Given the description of an element on the screen output the (x, y) to click on. 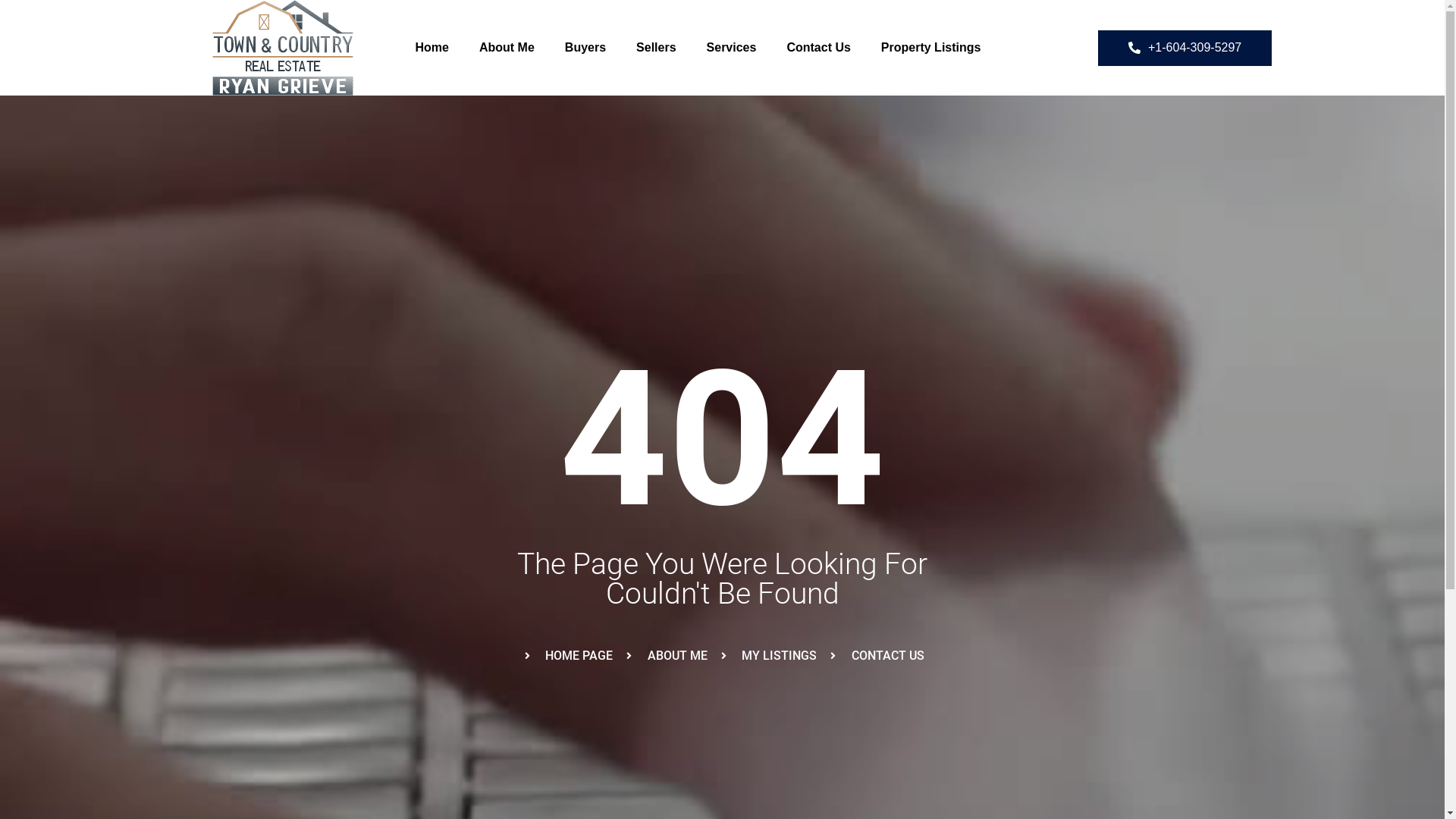
Contact Us Element type: text (818, 47)
Home Element type: text (432, 47)
HOME PAGE Element type: text (566, 655)
About Me Element type: text (506, 47)
Sellers Element type: text (655, 47)
CONTACT US Element type: text (875, 655)
+1-604-309-5297 Element type: text (1184, 47)
Property Listings Element type: text (931, 47)
Services Element type: text (731, 47)
MY LISTINGS Element type: text (767, 655)
Buyers Element type: text (585, 47)
ABOUT ME Element type: text (664, 655)
